Given the description of an element on the screen output the (x, y) to click on. 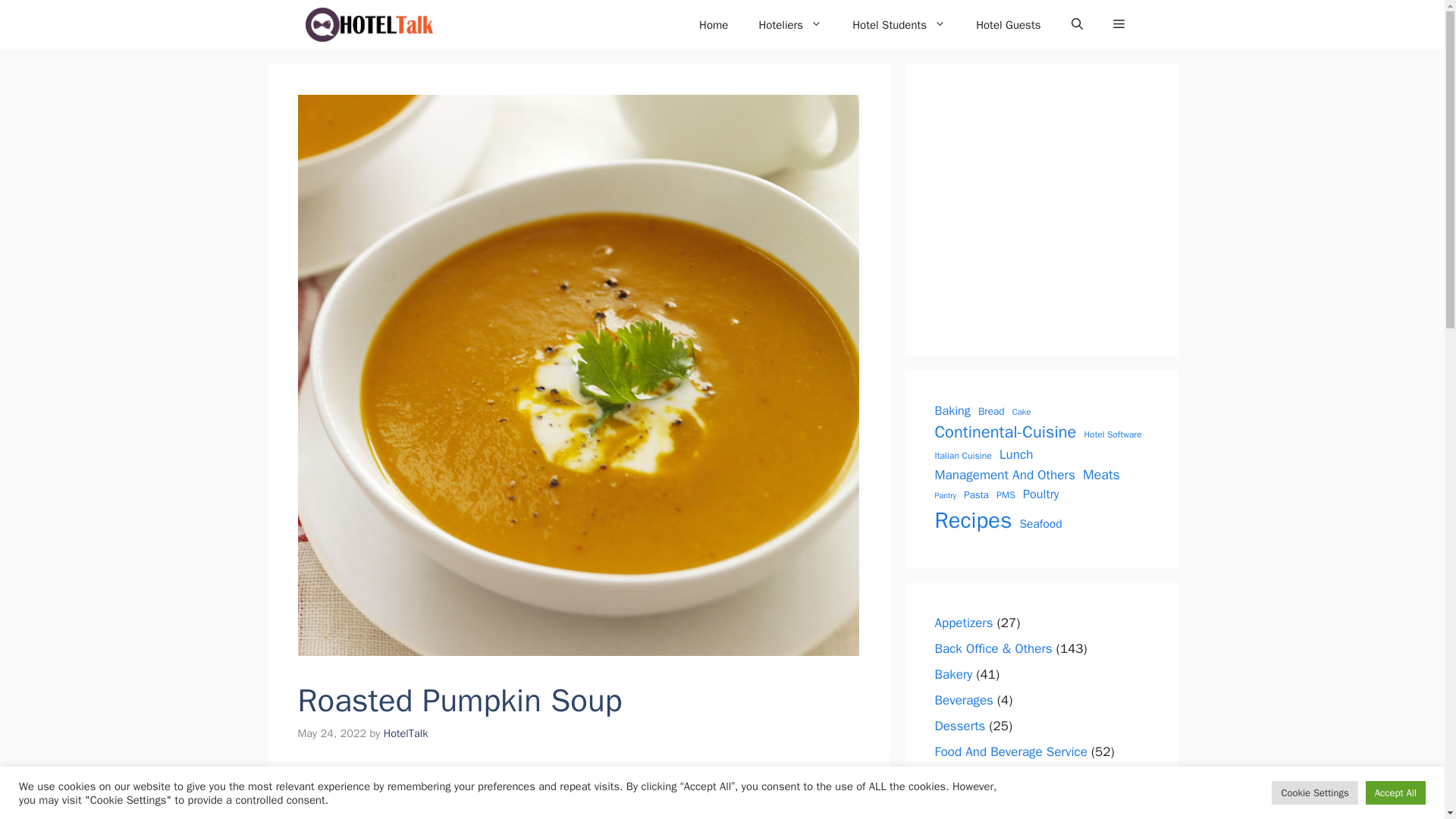
Bread (991, 410)
Hotel Software (1112, 435)
Hoteliers (789, 23)
HotelTalk (406, 733)
Advertisement (570, 793)
Hotel Students (898, 23)
Hotel Guests (1007, 23)
Continental-Cuisine (1004, 432)
Italian Cuisine (962, 455)
Home (713, 23)
